Given the description of an element on the screen output the (x, y) to click on. 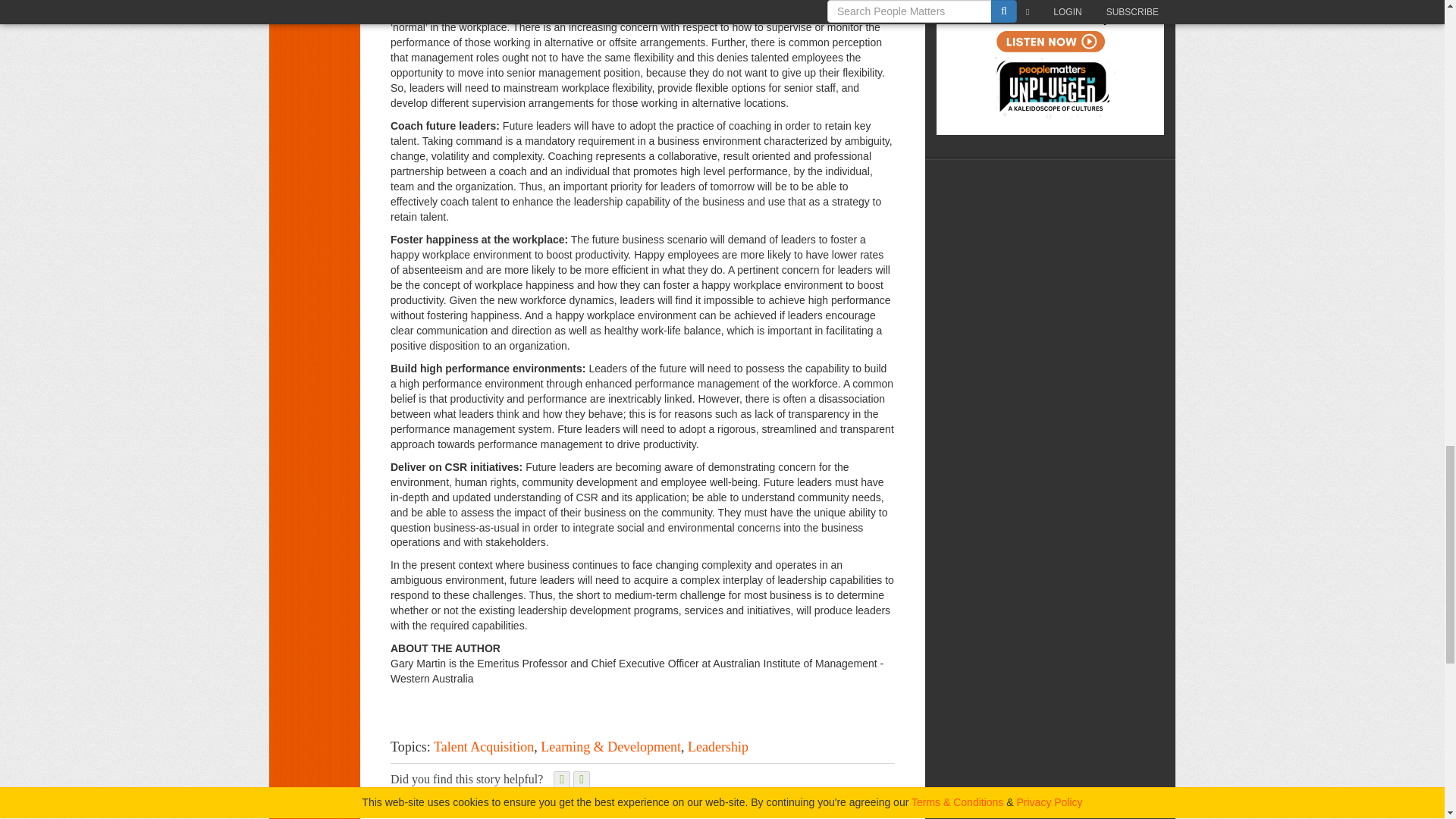
Browse more in: Talent Acquisition (483, 746)
Talent Acquisition (483, 746)
